Given the description of an element on the screen output the (x, y) to click on. 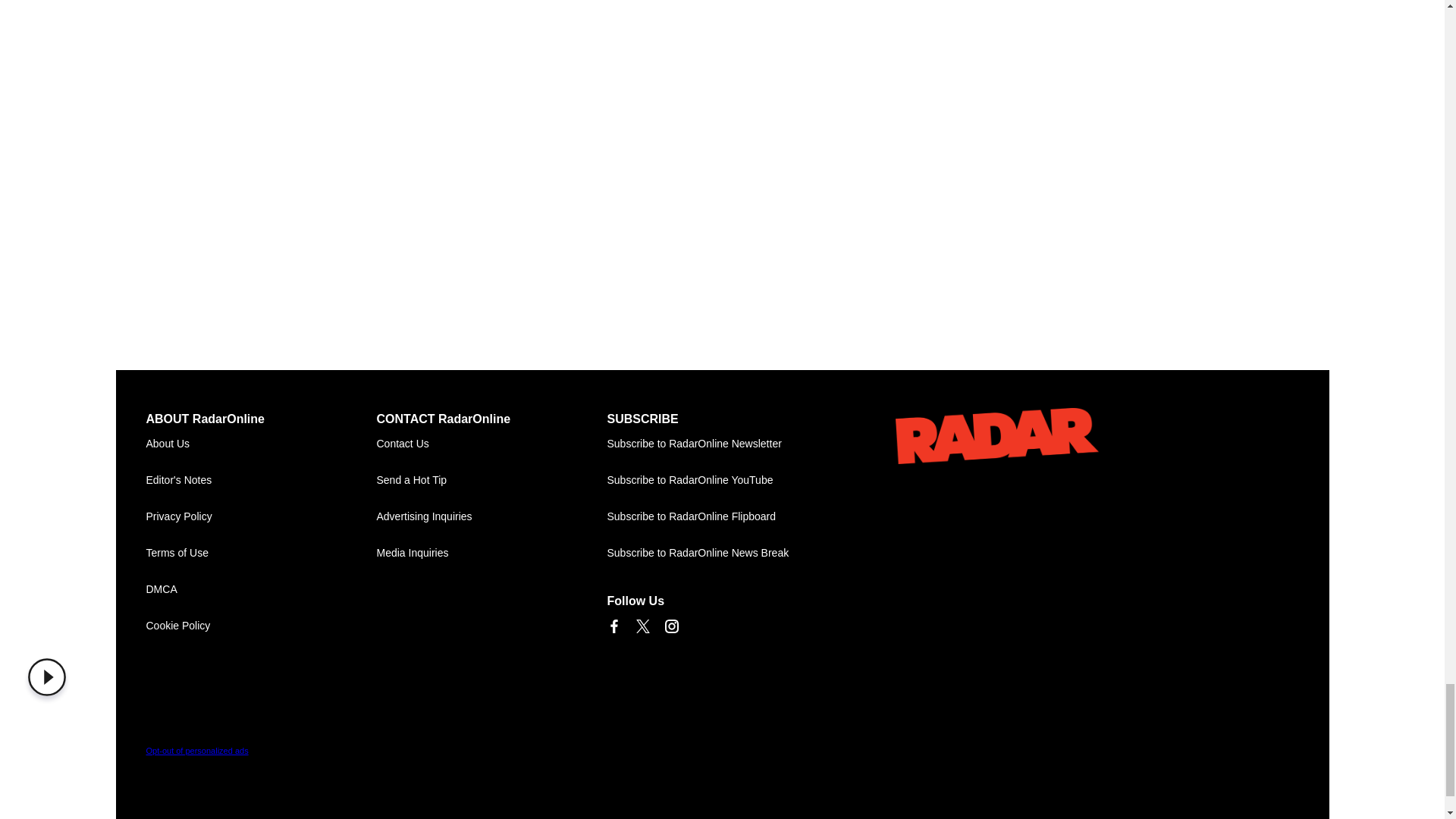
Link to Instagram (670, 626)
Link to Facebook (613, 626)
Editor's Notes (260, 480)
Privacy Policy (260, 516)
Cookie Policy (260, 626)
About Us (260, 443)
Terms of Use (260, 553)
Link to X (641, 626)
DMCA (260, 589)
